Given the description of an element on the screen output the (x, y) to click on. 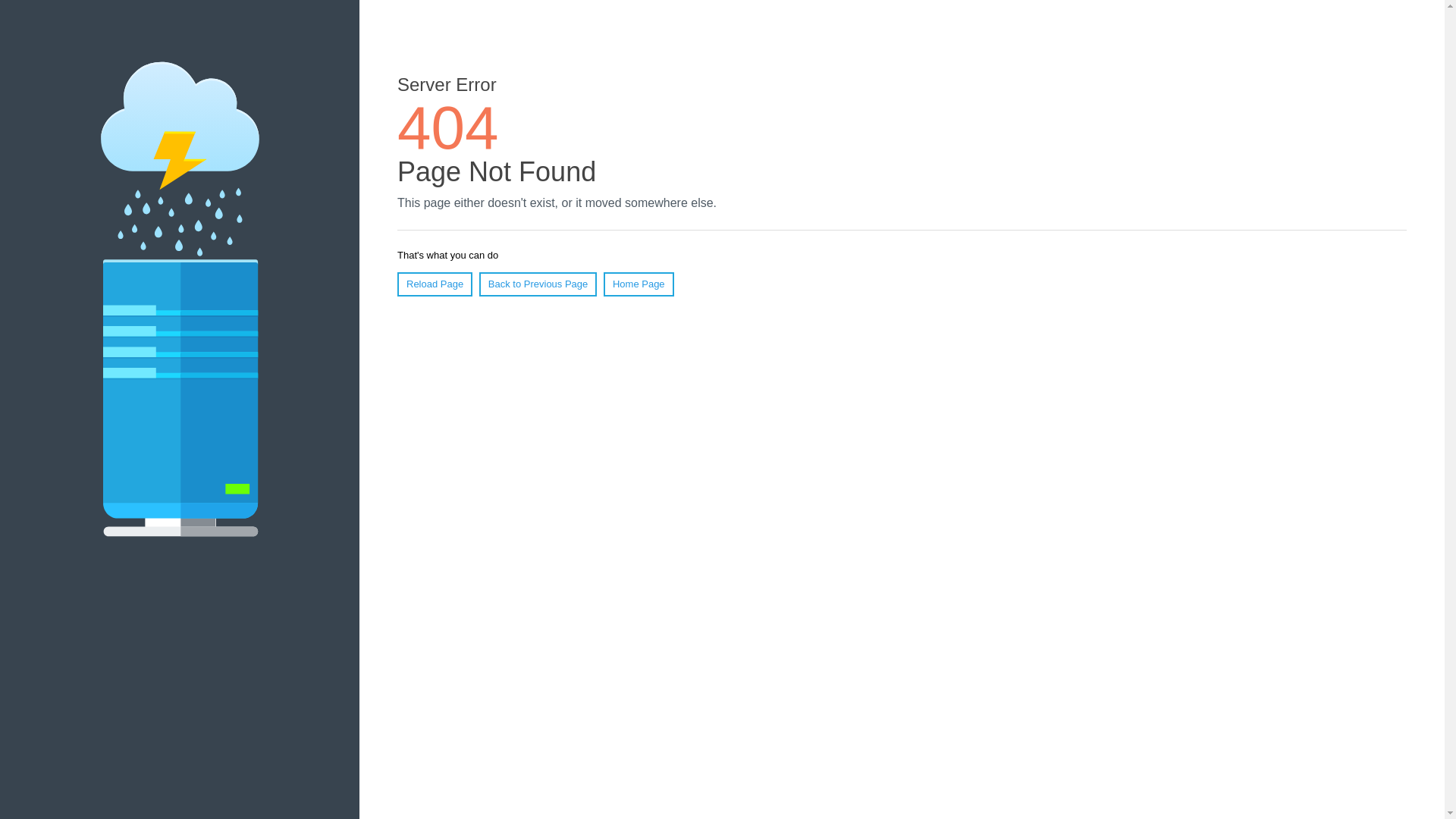
Home Page (639, 283)
Reload Page (434, 283)
Back to Previous Page (537, 283)
